Given the description of an element on the screen output the (x, y) to click on. 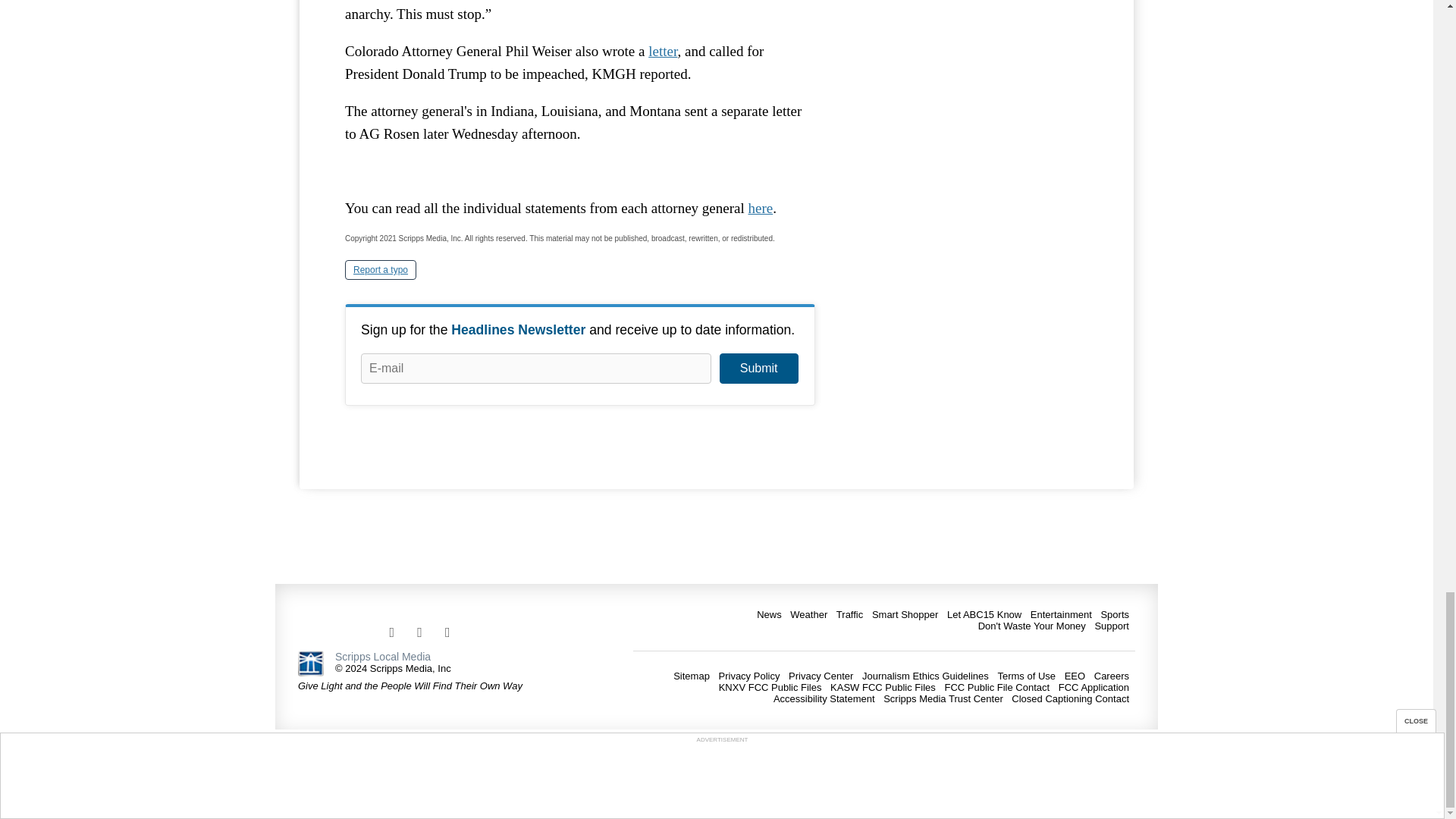
Submit (758, 368)
